Given the description of an element on the screen output the (x, y) to click on. 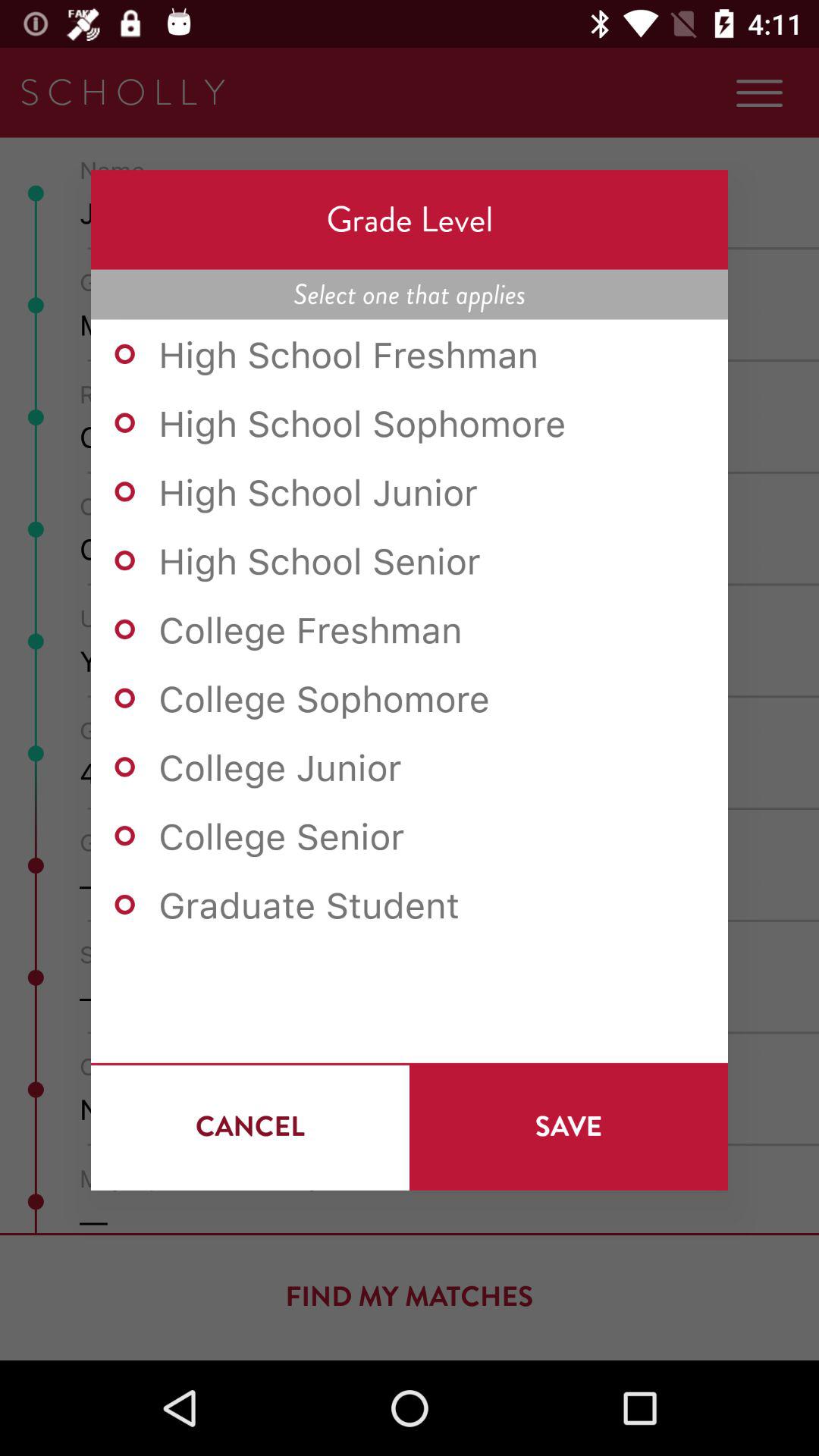
click save item (568, 1126)
